Given the description of an element on the screen output the (x, y) to click on. 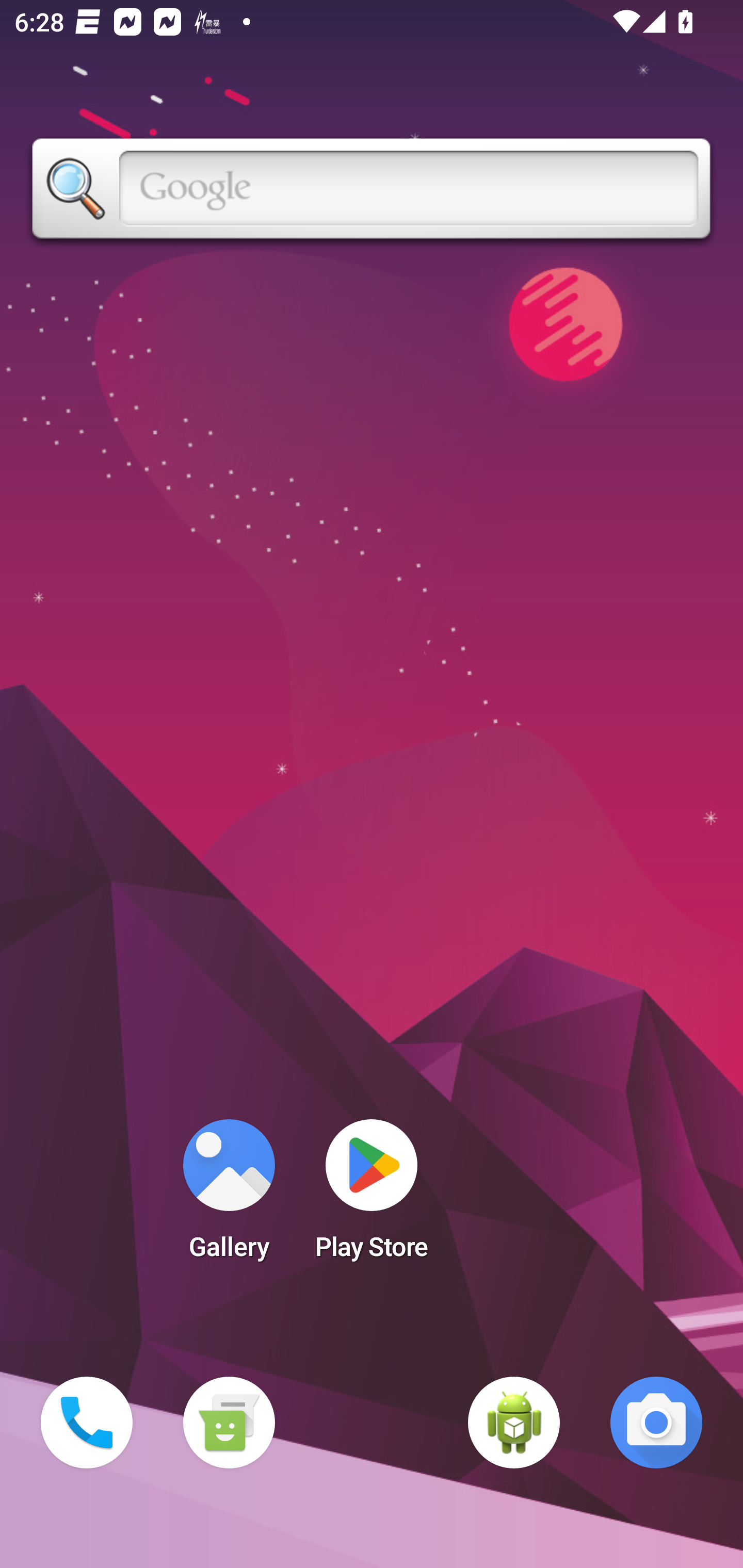
Gallery (228, 1195)
Play Store (371, 1195)
Phone (86, 1422)
Messaging (228, 1422)
WebView Browser Tester (513, 1422)
Camera (656, 1422)
